Given the description of an element on the screen output the (x, y) to click on. 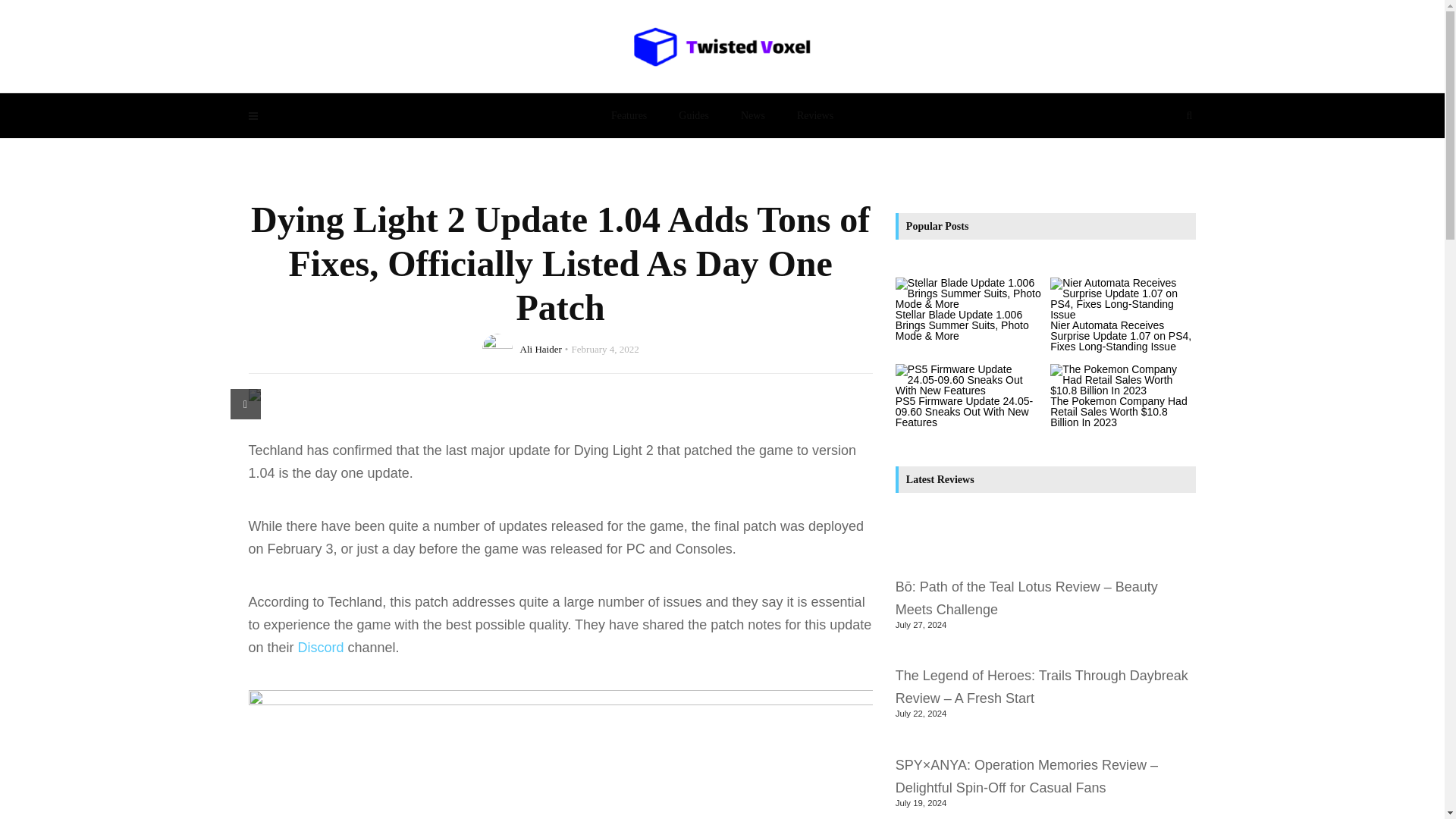
Reviews (814, 115)
Features (628, 115)
Guides (693, 115)
Discord (320, 647)
News (752, 115)
Ali Haider (540, 348)
